Given the description of an element on the screen output the (x, y) to click on. 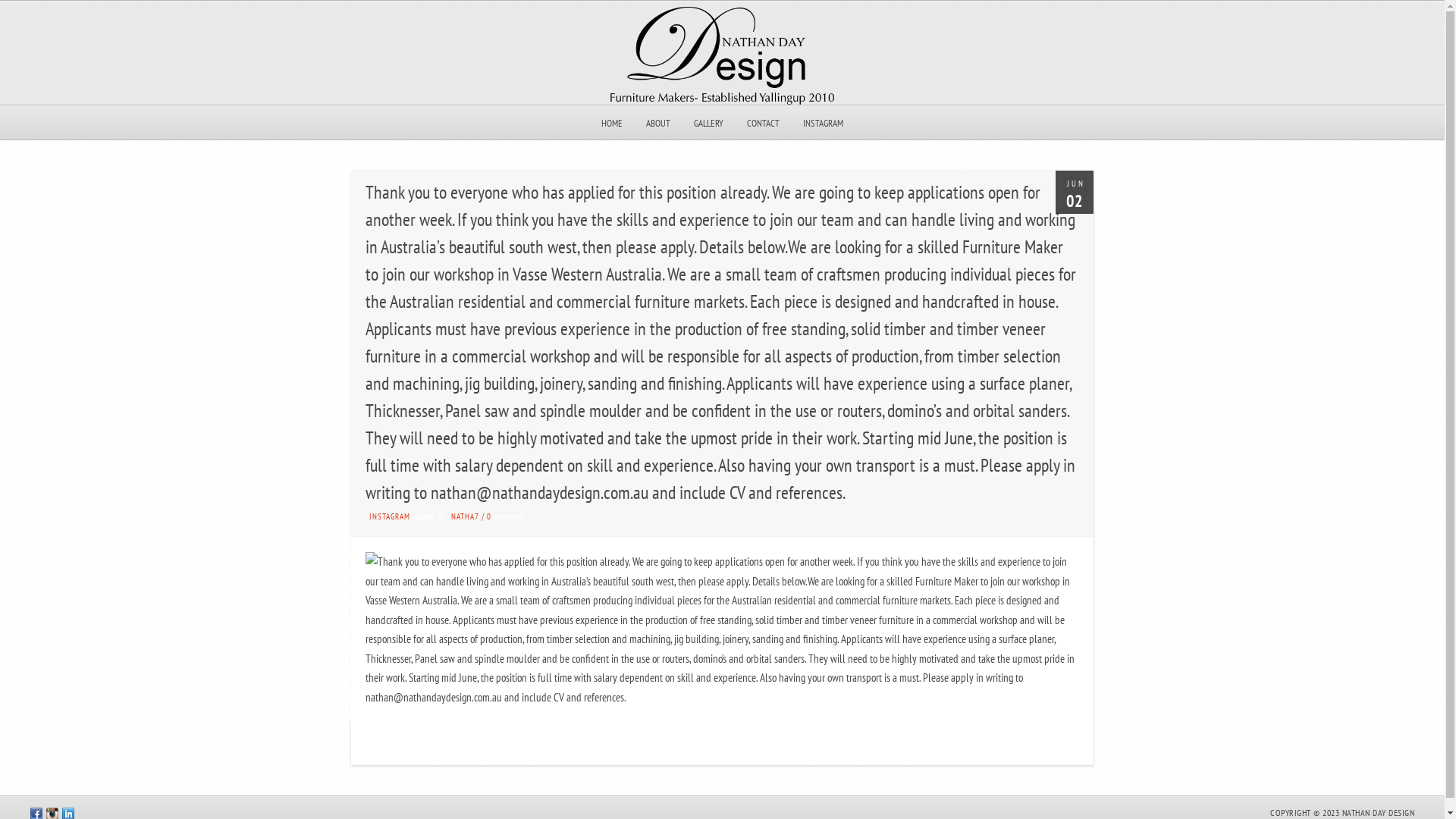
0 Element type: text (489, 516)
INSTAGRAM Element type: text (822, 123)
HOME Element type: text (611, 123)
CONTACT Element type: text (763, 123)
INSTAGRAM Element type: text (389, 516)
ABOUT Element type: text (657, 123)
NATHA7 Element type: text (465, 516)
GALLERY Element type: text (708, 123)
